Given the description of an element on the screen output the (x, y) to click on. 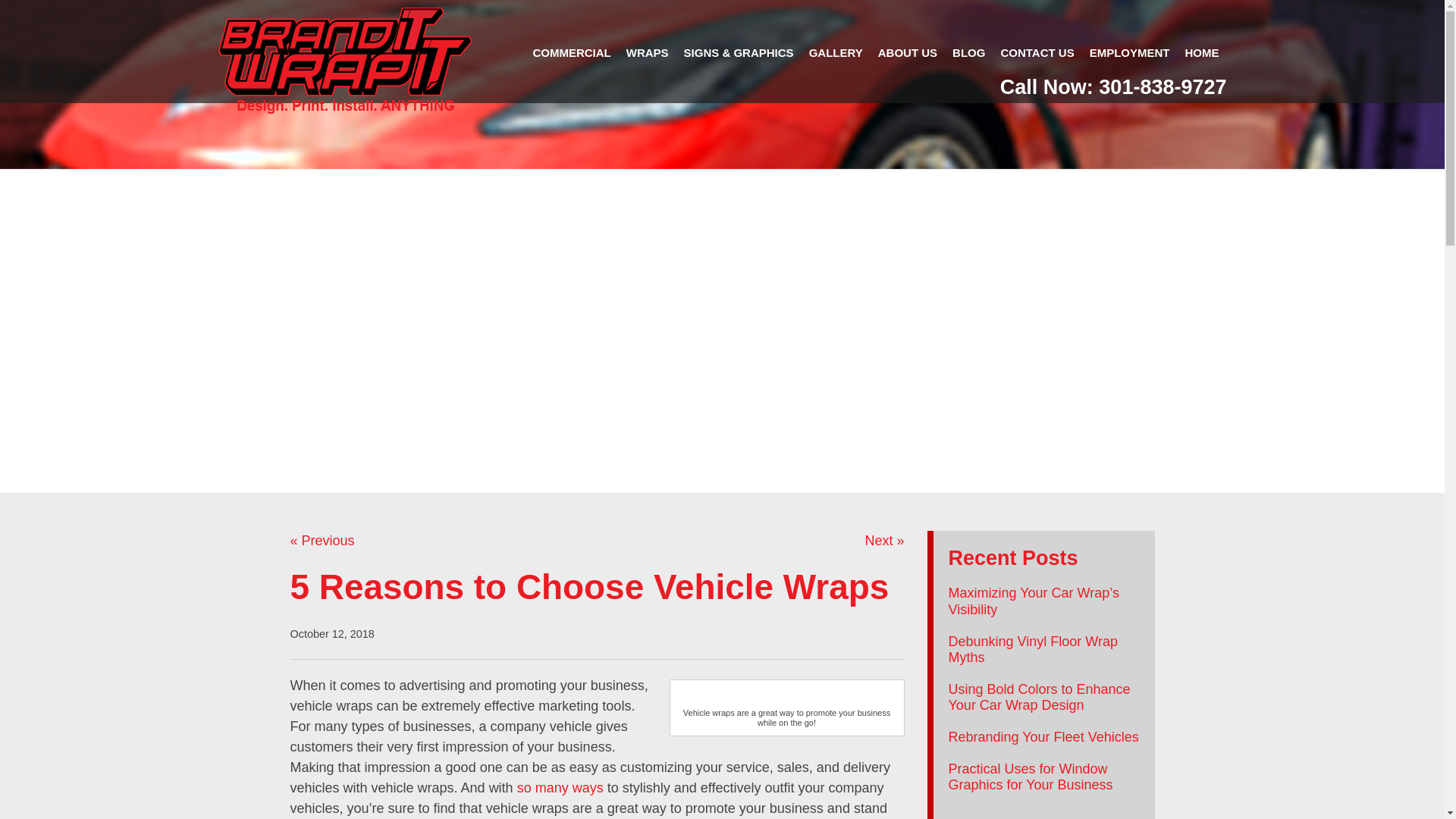
Call Now: 301-838-9727 (1113, 87)
CONTACT US (1036, 53)
HOME (1200, 53)
EMPLOYMENT (1129, 53)
GALLERY (836, 53)
WRAPS (647, 53)
Brand It Wrap It (344, 60)
COMMERCIAL (570, 53)
BLOG (968, 53)
so many ways (560, 787)
